Given the description of an element on the screen output the (x, y) to click on. 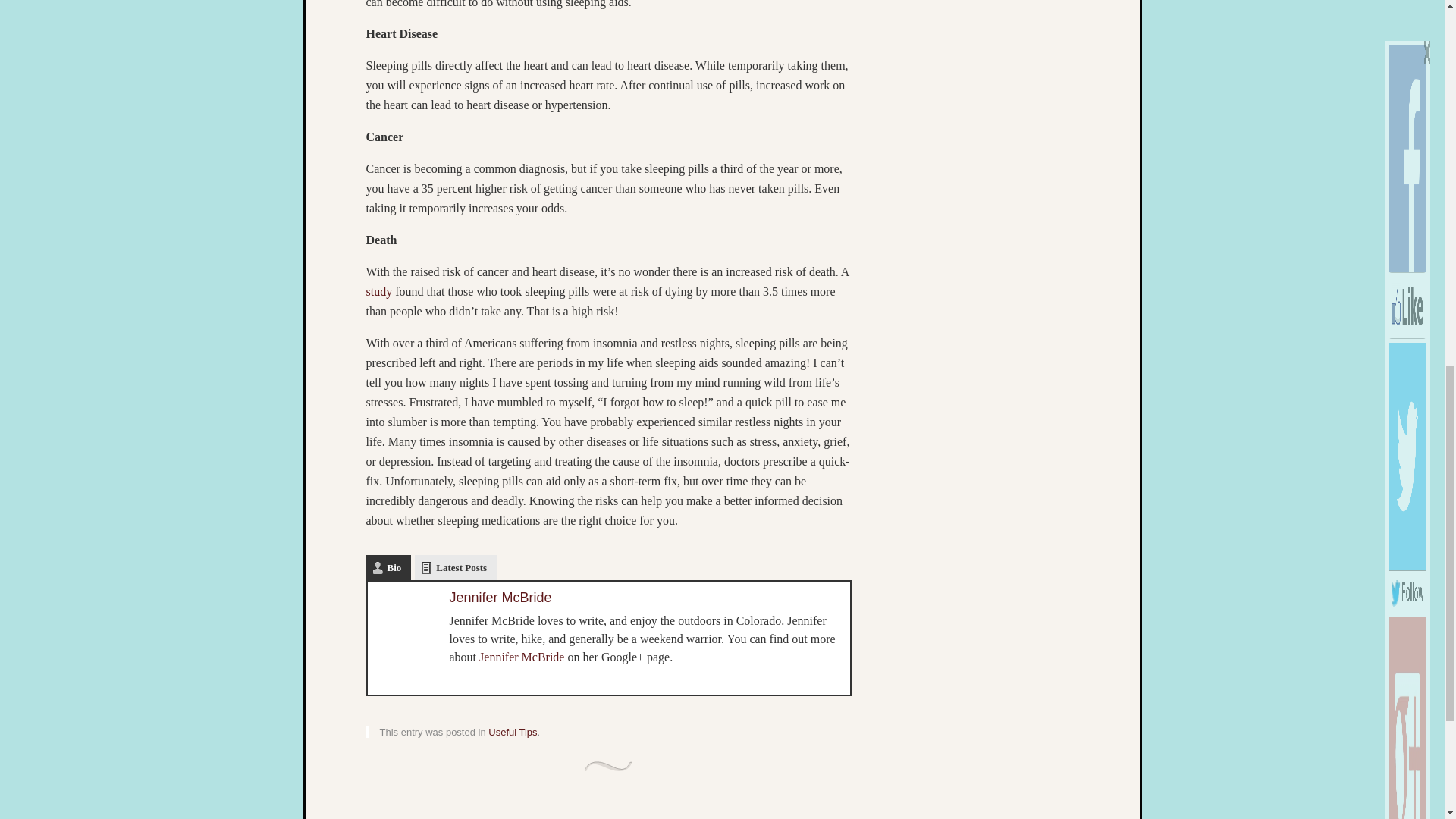
Latest Posts (455, 567)
Useful Tips (512, 731)
Jennifer McBride (521, 656)
Twitter (386, 672)
Add Me To Your Circle (1407, 93)
study (378, 291)
Bio (387, 567)
Jennifer McBride (499, 597)
Facebook (405, 672)
